Given the description of an element on the screen output the (x, y) to click on. 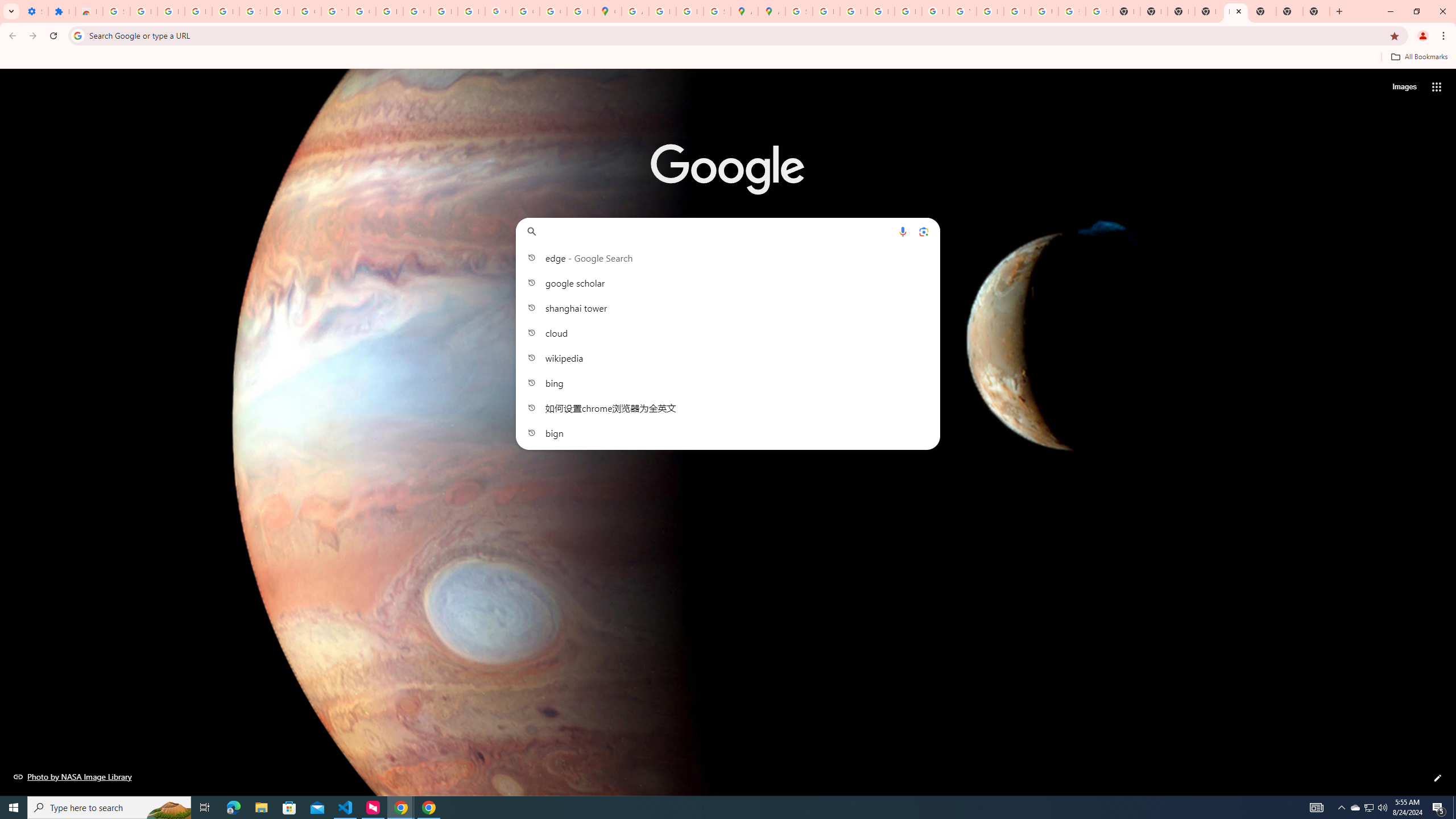
New Tab (1316, 11)
Search Google or type a URL (727, 230)
Extensions (61, 11)
Privacy Help Center - Policies Help (853, 11)
Search by voice (902, 230)
Browse Chrome as a guest - Computer - Google Chrome Help (990, 11)
Safety in Our Products - Google Safety Center (716, 11)
New Tab (1289, 11)
